Given the description of an element on the screen output the (x, y) to click on. 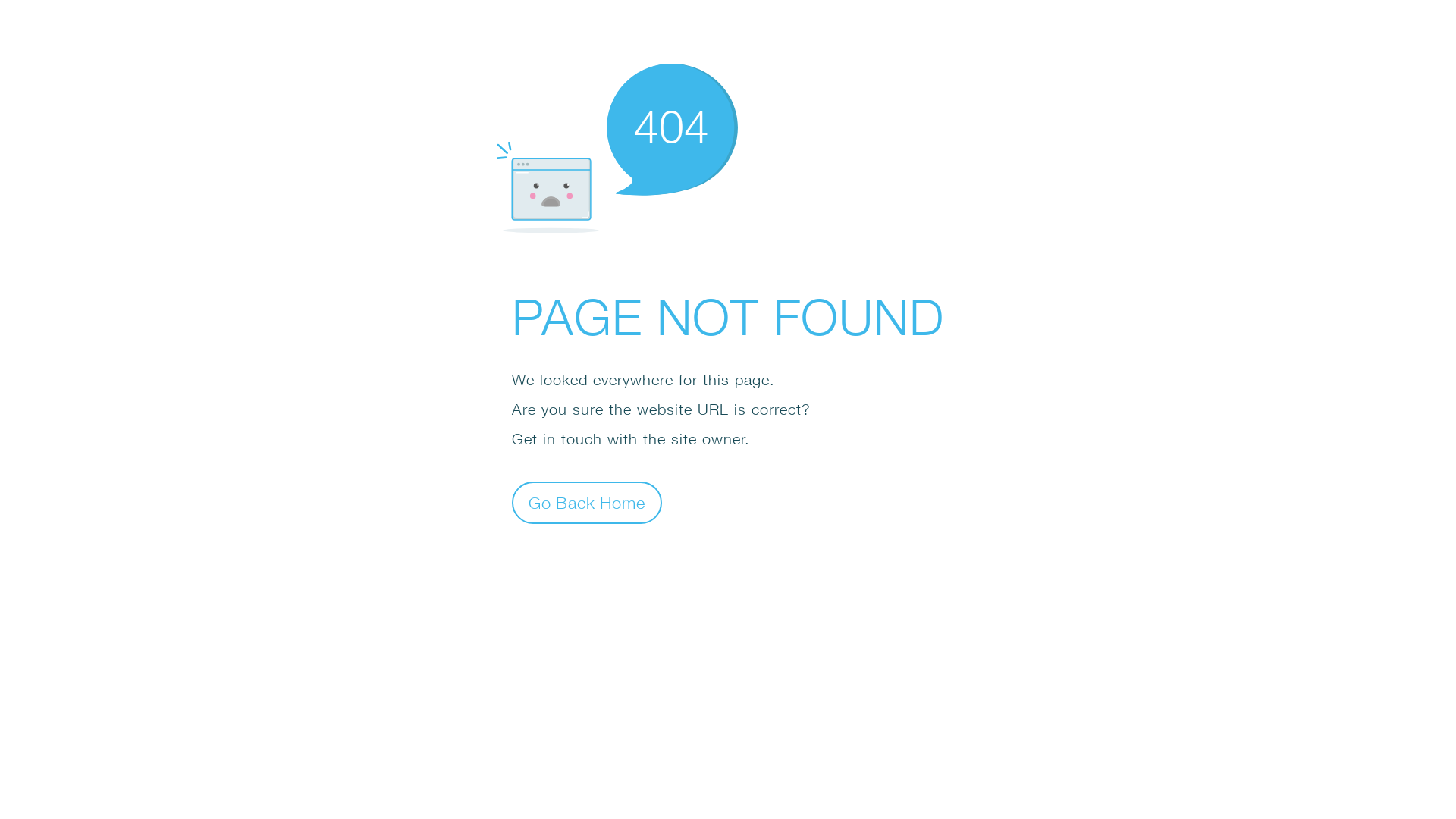
Go Back Home Element type: text (586, 502)
